Given the description of an element on the screen output the (x, y) to click on. 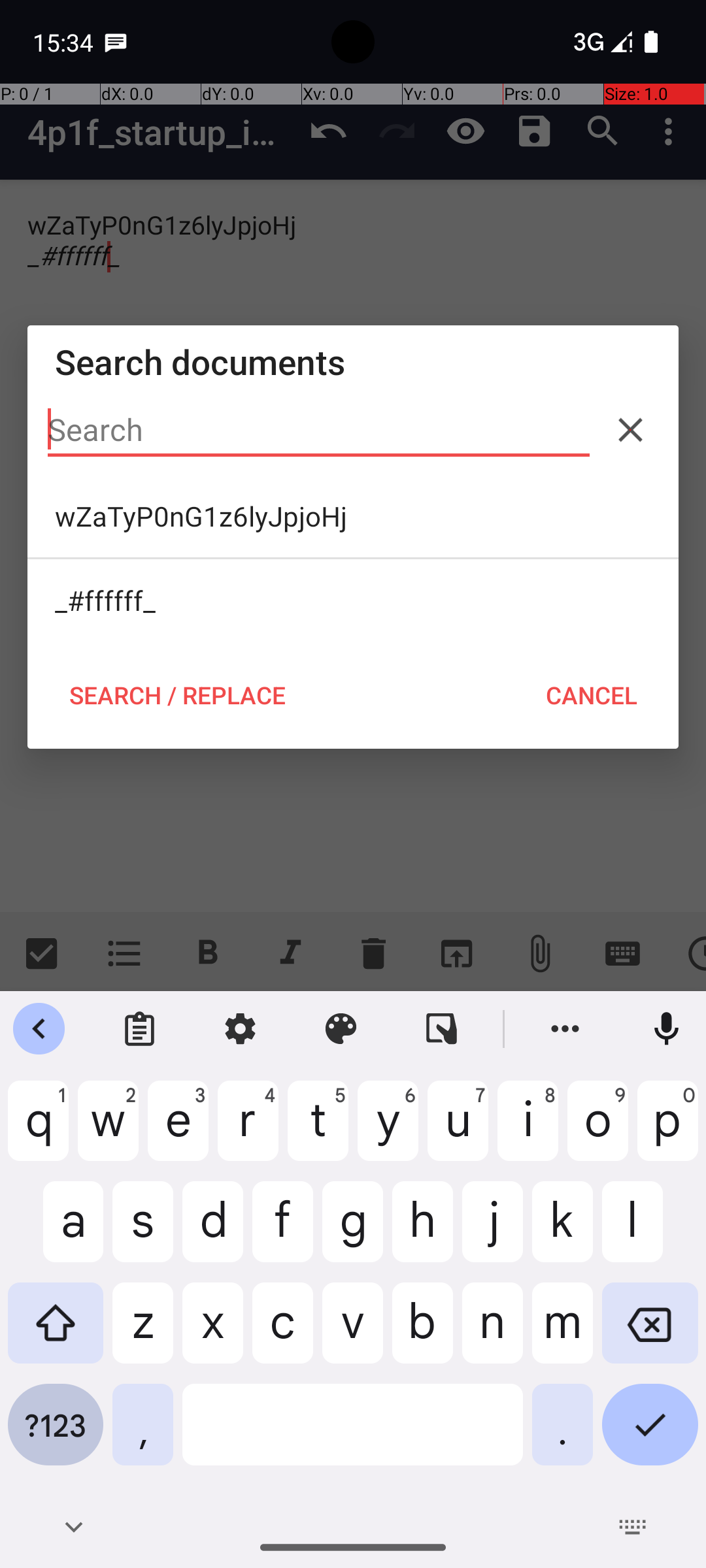
Search documents Element type: android.widget.TextView (352, 361)
wZaTyP0nG1z6lyJpjoHj Element type: android.widget.TextView (352, 515)
_#ffffff_ Element type: android.widget.TextView (352, 600)
SEARCH / REPLACE Element type: android.widget.Button (176, 694)
Theme settings Element type: android.widget.FrameLayout (340, 1028)
One handed mode Element type: android.widget.FrameLayout (441, 1028)
Done Element type: android.widget.FrameLayout (649, 1434)
